Given the description of an element on the screen output the (x, y) to click on. 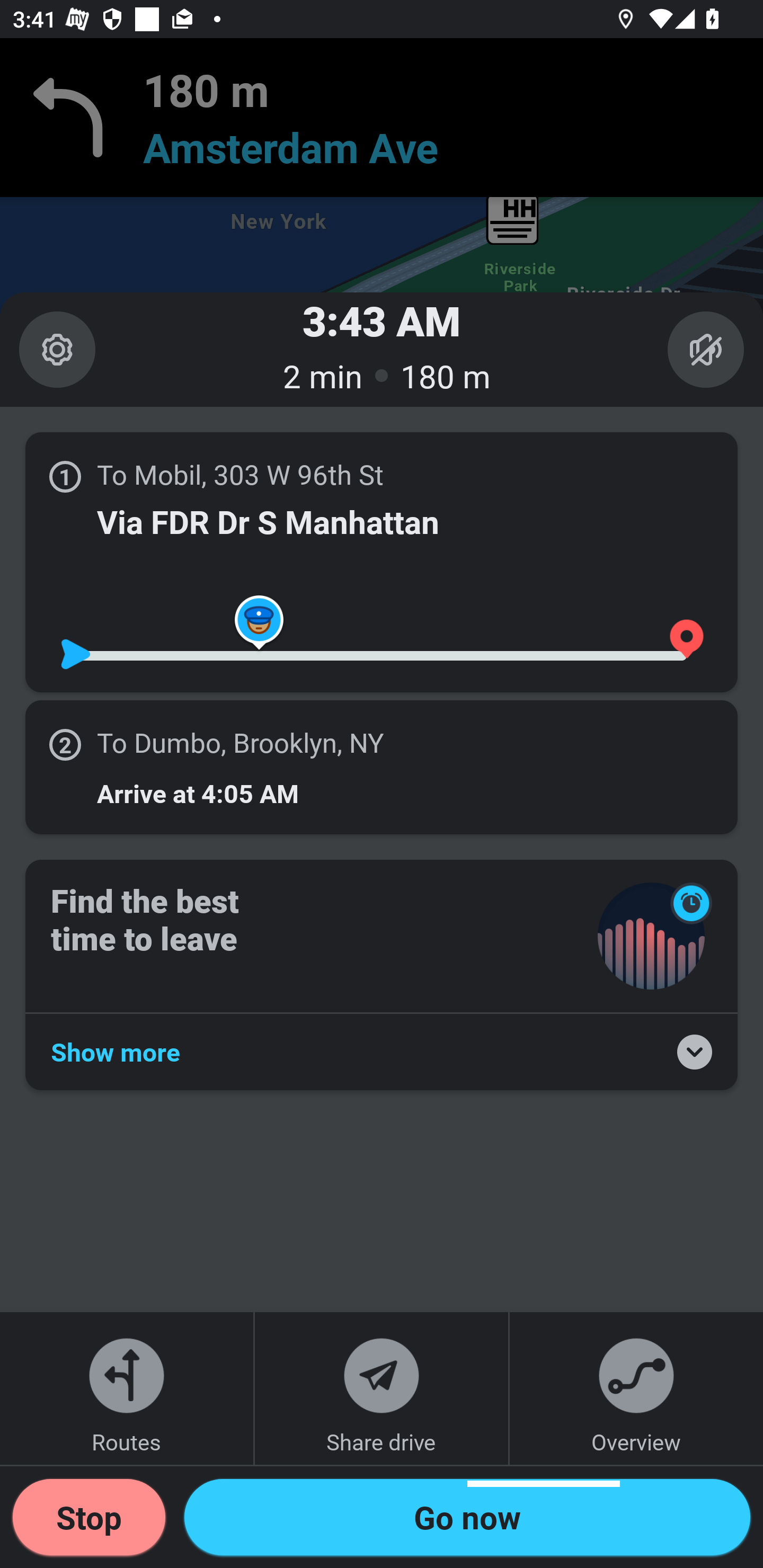
180 m Amsterdam Ave (381, 117)
3:43 AM 2 min 180 m (381, 348)
Find the best time to leave Show more (381, 974)
Routes (126, 1388)
Share drive (381, 1388)
Overview (636, 1388)
Stop (88, 1516)
ETA_DRAWER_GO_BUTTON Go now (466, 1516)
